Given the description of an element on the screen output the (x, y) to click on. 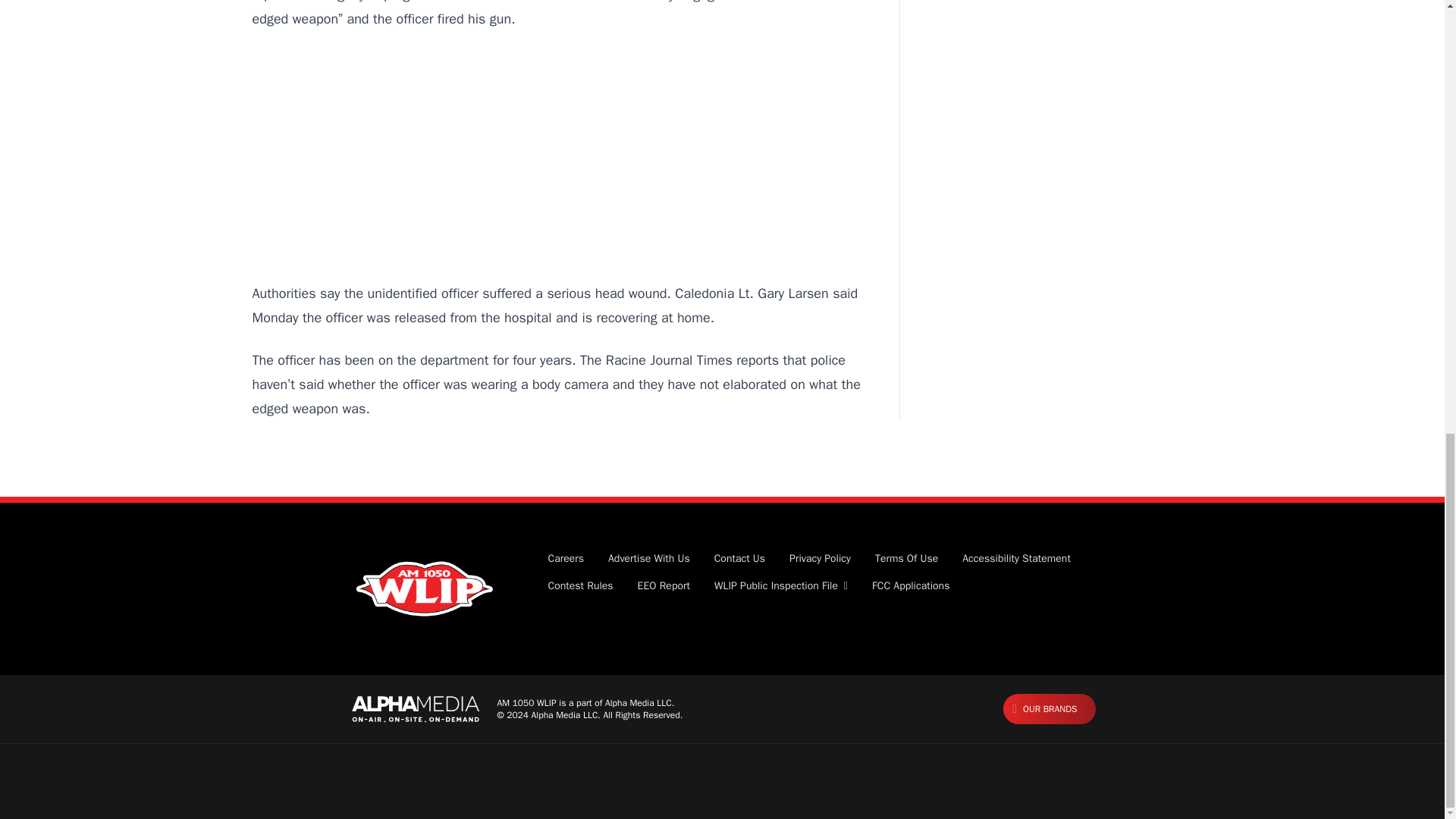
3rd party ad content (560, 155)
